Given the description of an element on the screen output the (x, y) to click on. 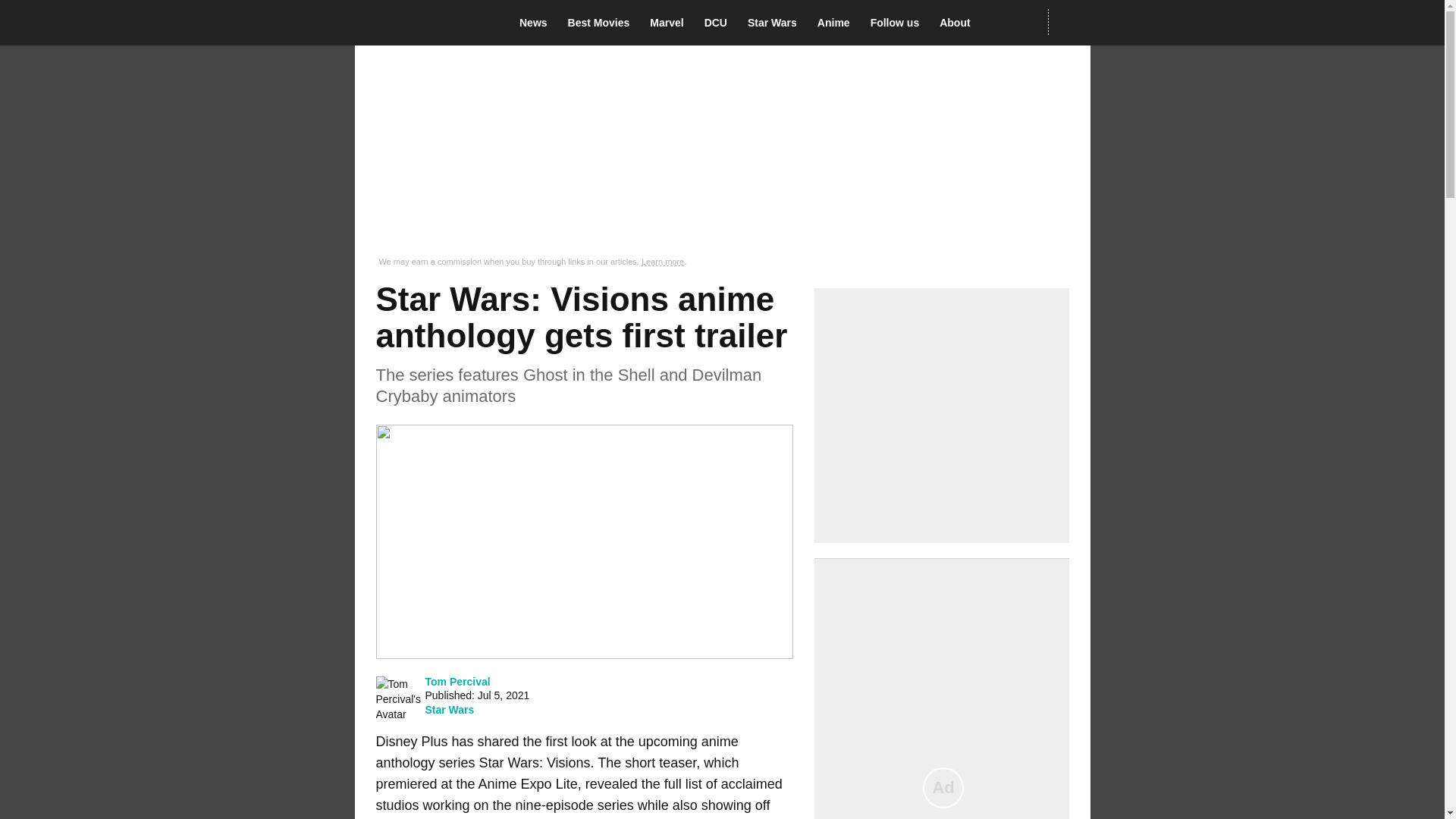
Marvel Cinematic Universe News (671, 22)
Best Movies (603, 22)
Anime (837, 22)
Network N Media (1068, 22)
Marvel (671, 22)
Star Wars (449, 709)
Tom Percival (457, 681)
Learn more (663, 261)
The Digital Fix (424, 22)
Anime News (837, 22)
